Given the description of an element on the screen output the (x, y) to click on. 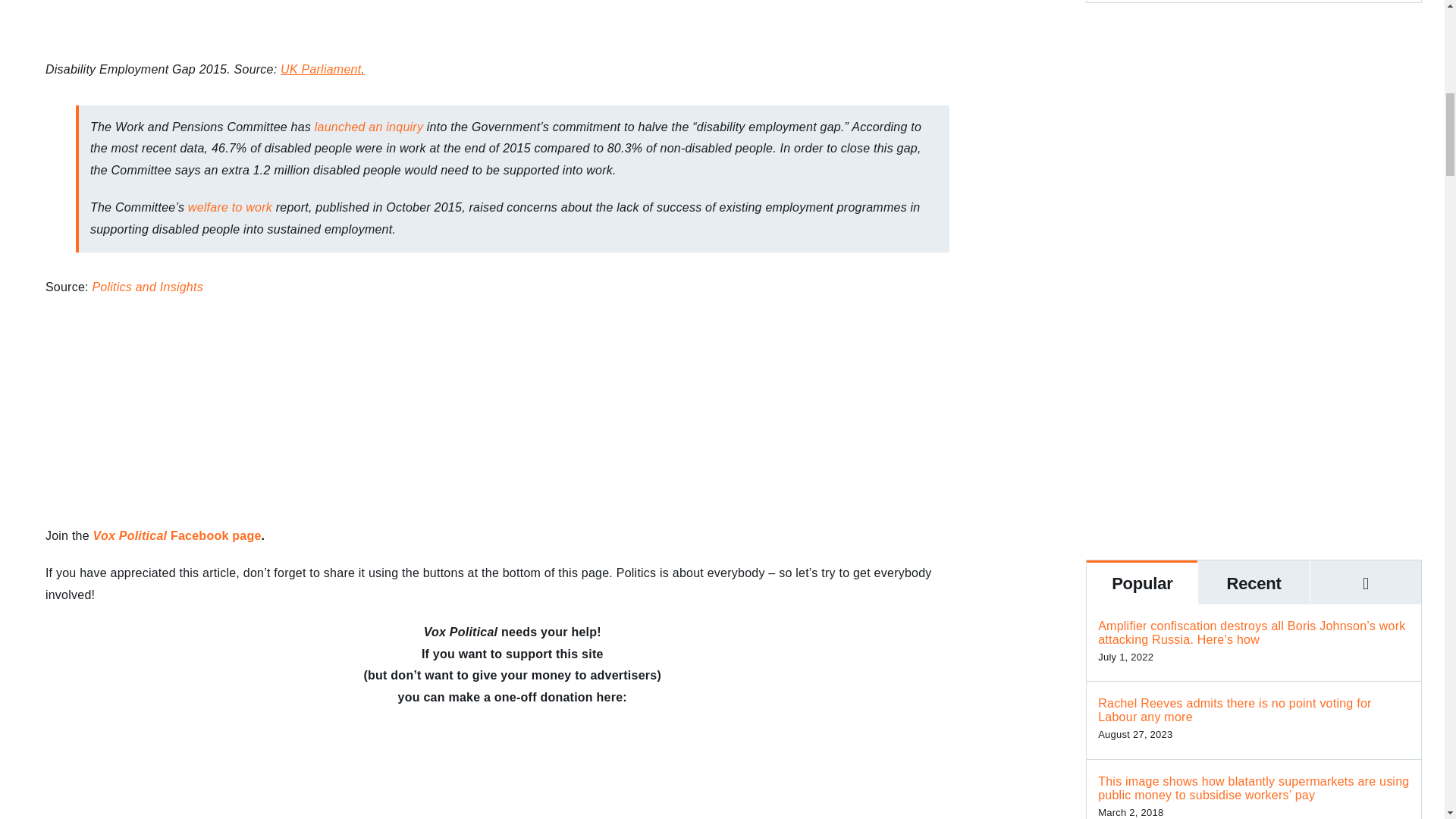
UK Parliament. (323, 69)
Politics and Insights (146, 286)
Vox Political Facebook page (177, 535)
launched an inquiry (368, 126)
Advertisement (1254, 411)
welfare to work (231, 206)
